Given the description of an element on the screen output the (x, y) to click on. 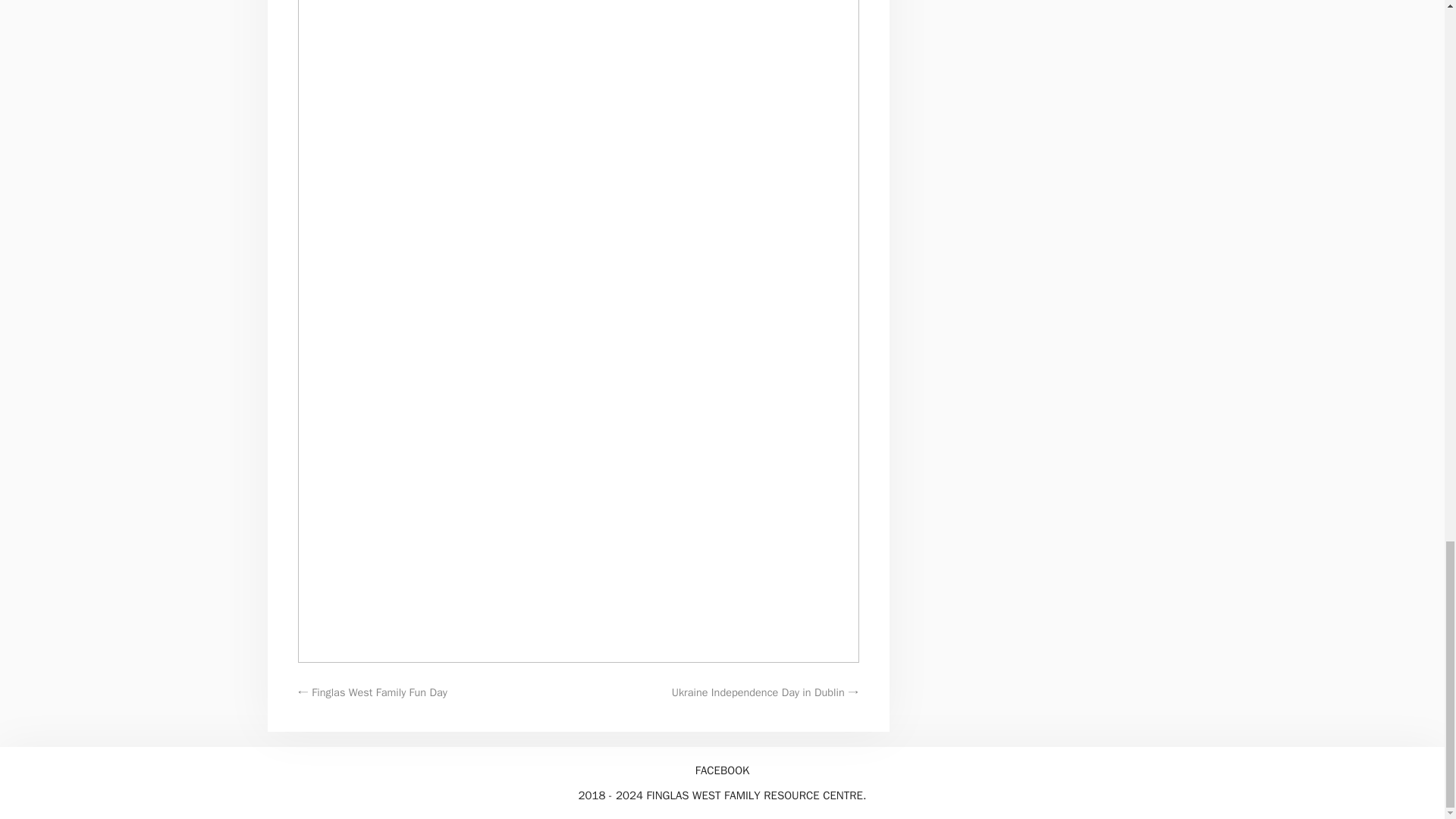
FACEBOOK (722, 770)
Ukraine Independence Day in Dublin (757, 692)
Finglas West Family Fun Day (378, 692)
